Given the description of an element on the screen output the (x, y) to click on. 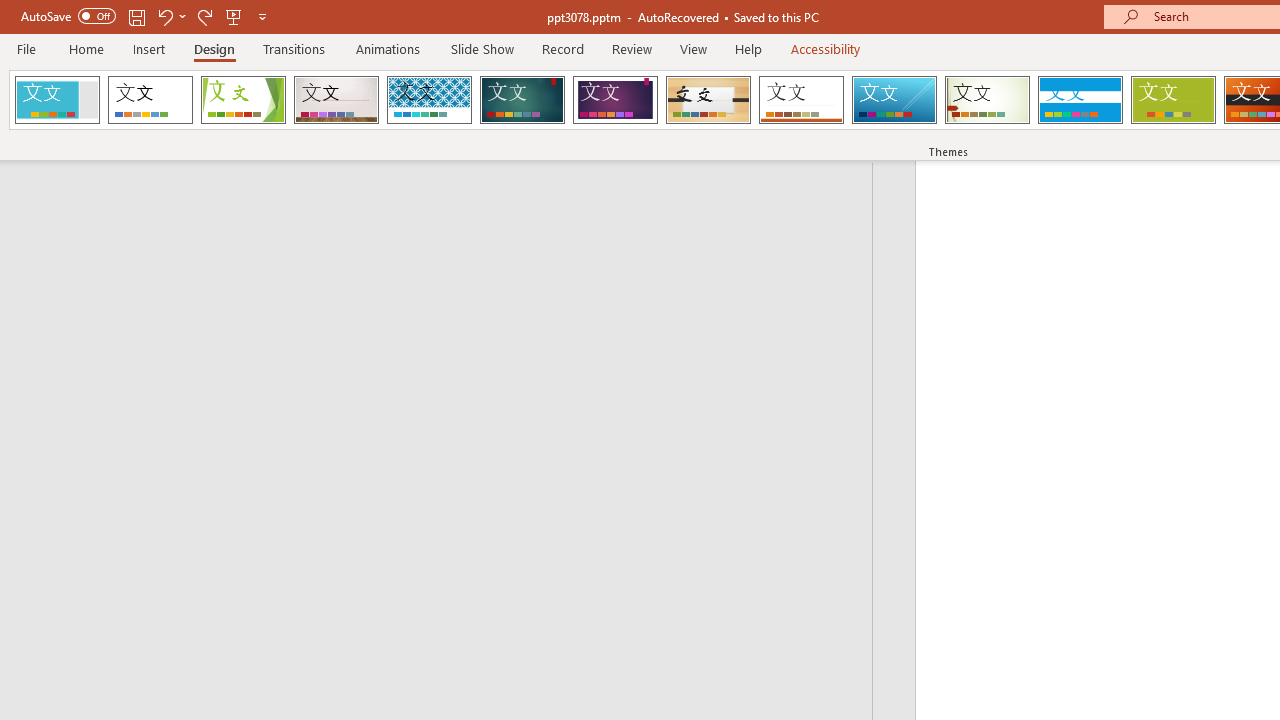
Office Theme (150, 100)
Outline (445, 202)
Slice (893, 100)
Gallery (336, 100)
Integral (429, 100)
